Given the description of an element on the screen output the (x, y) to click on. 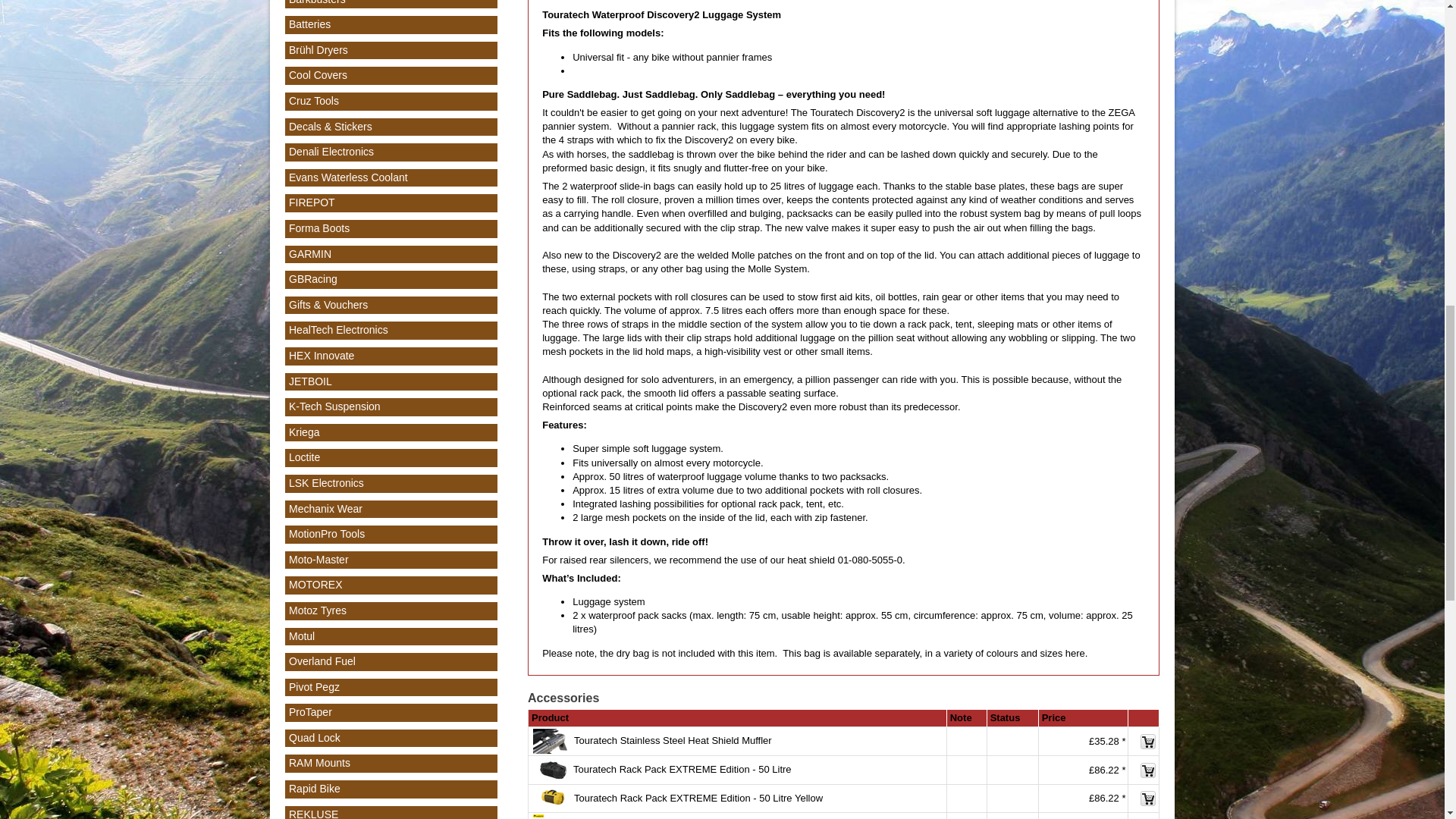
Out Of Stock (1011, 741)
Cool Covers (317, 74)
Barkbusters (317, 2)
Add to basket (1148, 741)
GBRacing (312, 278)
Add to basket (1148, 770)
Cruz Tools (313, 101)
GARMIN (309, 254)
In stock (1011, 770)
In stock (1011, 799)
